Given the description of an element on the screen output the (x, y) to click on. 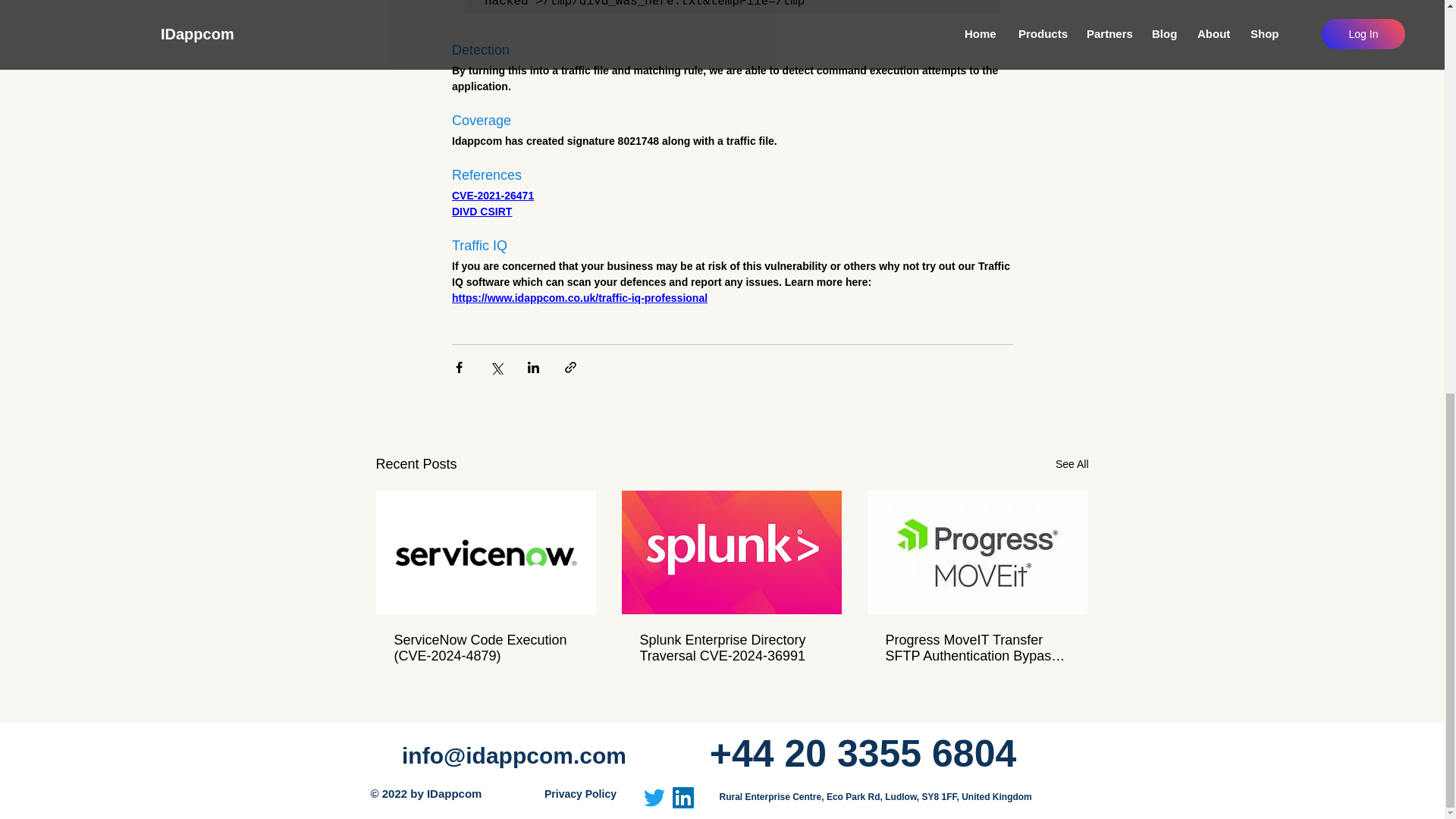
DIVD CSIRT (481, 211)
See All (1072, 464)
Privacy Policy (579, 793)
Splunk Enterprise Directory Traversal CVE-2024-36991 (732, 648)
CVE-2021-26471 (492, 195)
